Given the description of an element on the screen output the (x, y) to click on. 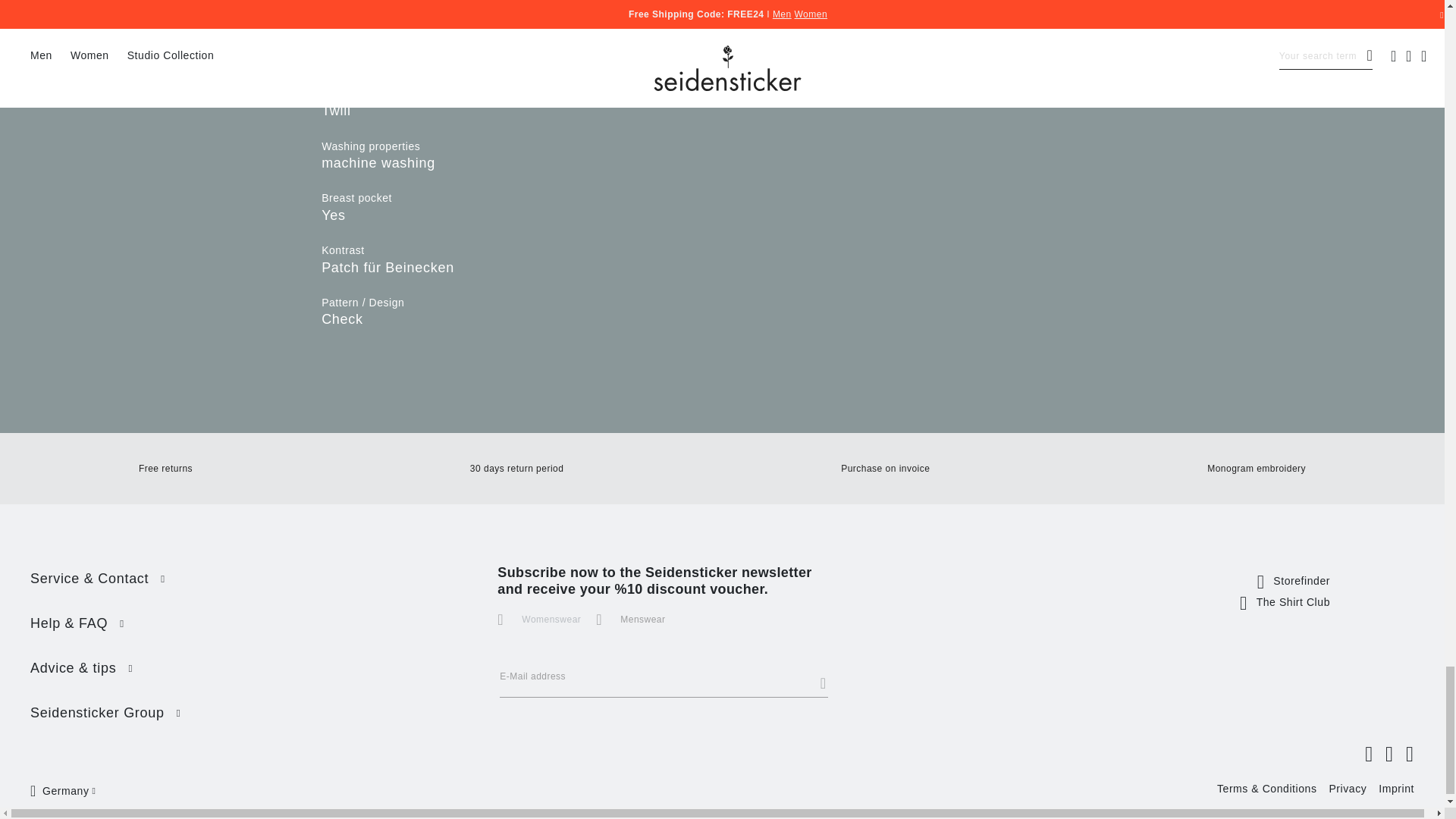
men (600, 614)
women (501, 614)
